Given the description of an element on the screen output the (x, y) to click on. 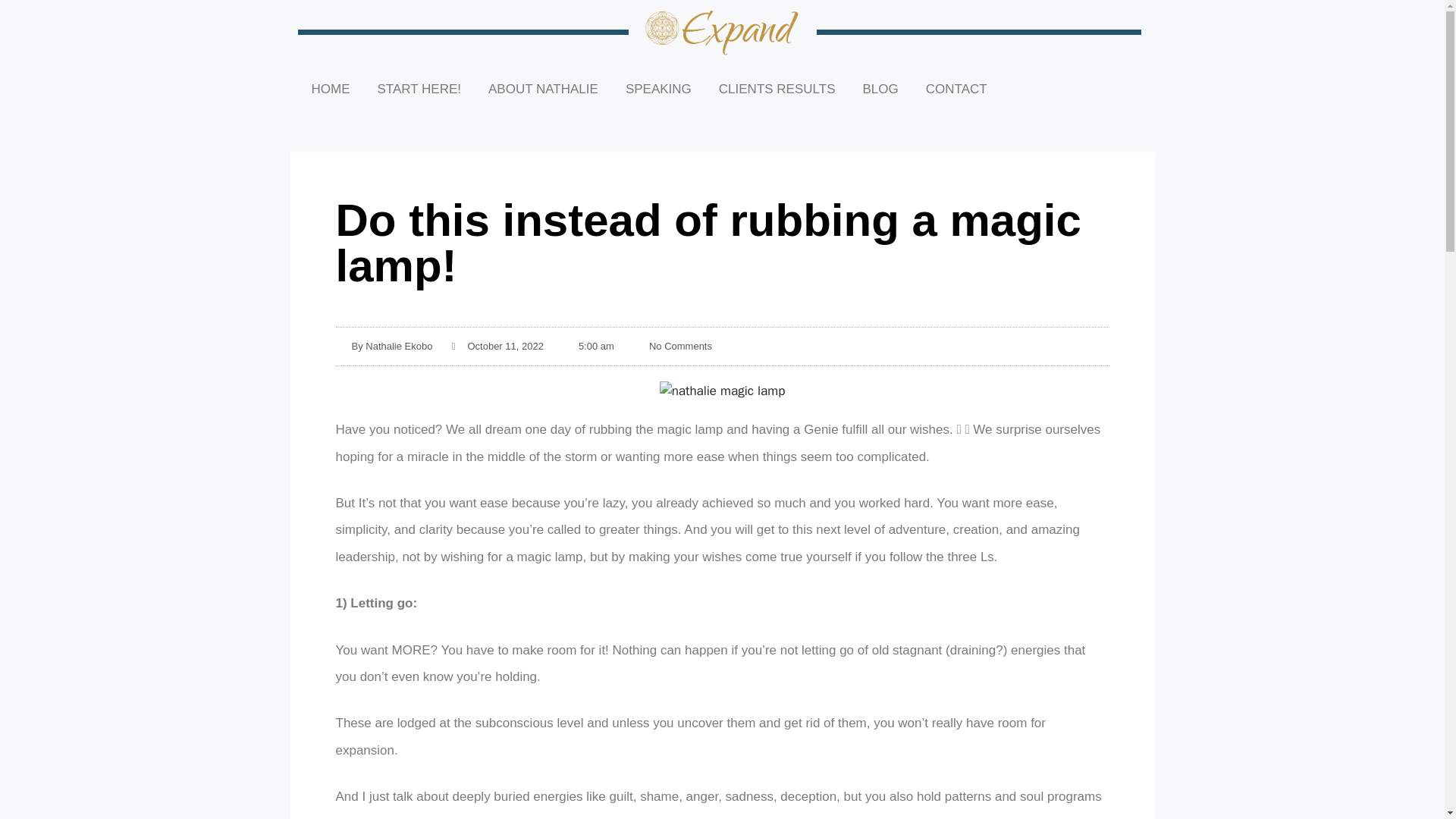
nathalie magic lamp (722, 391)
SPEAKING (657, 89)
ABOUT NATHALIE (542, 89)
BLOG (879, 89)
CLIENTS RESULTS (776, 89)
HOME (329, 89)
By Nathalie Ekobo (383, 346)
CONTACT (956, 89)
START HERE! (420, 89)
October 11, 2022 (497, 346)
